Given the description of an element on the screen output the (x, y) to click on. 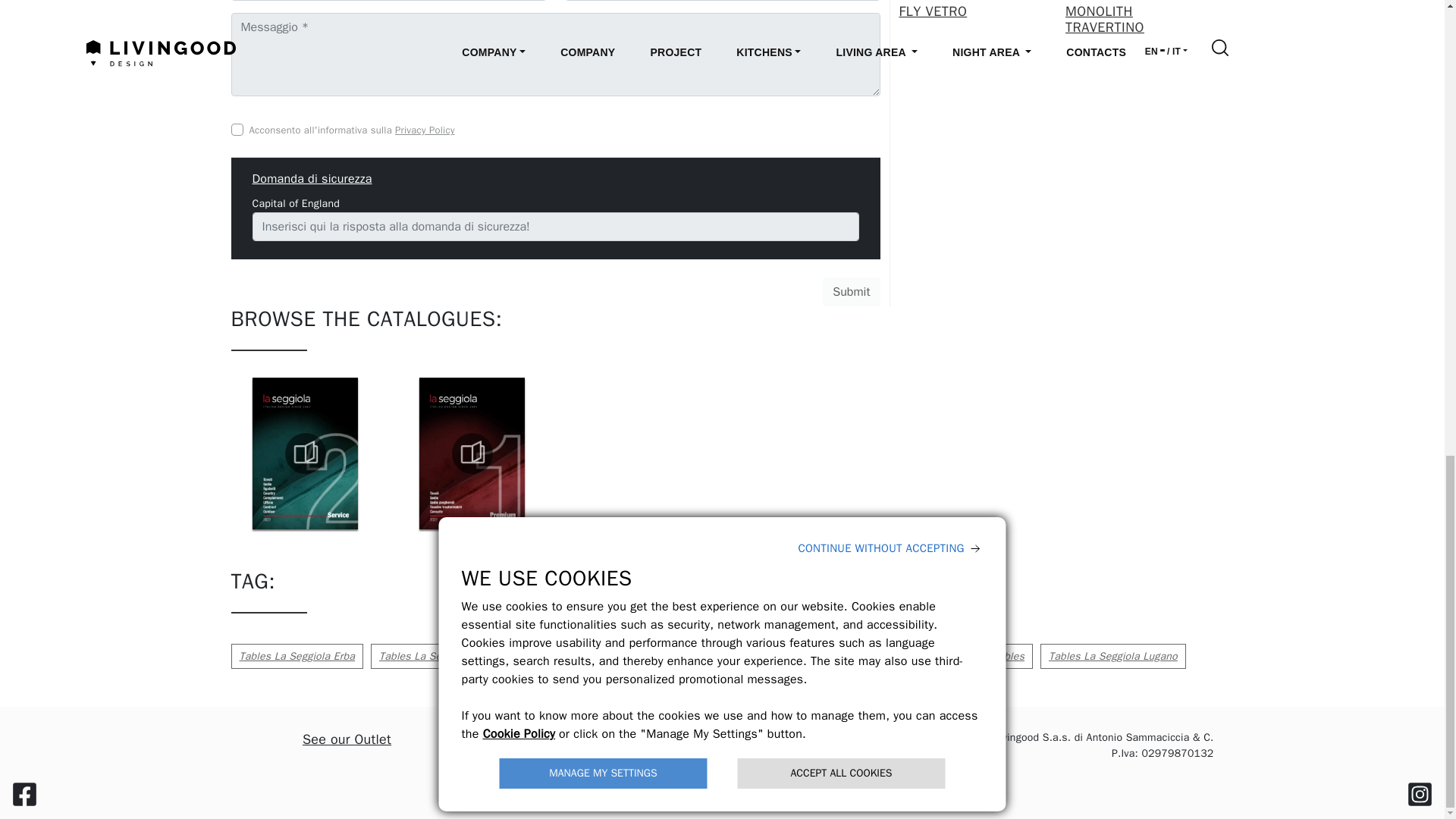
Privacy Policy (424, 129)
on (236, 129)
Submit (850, 291)
